Given the description of an element on the screen output the (x, y) to click on. 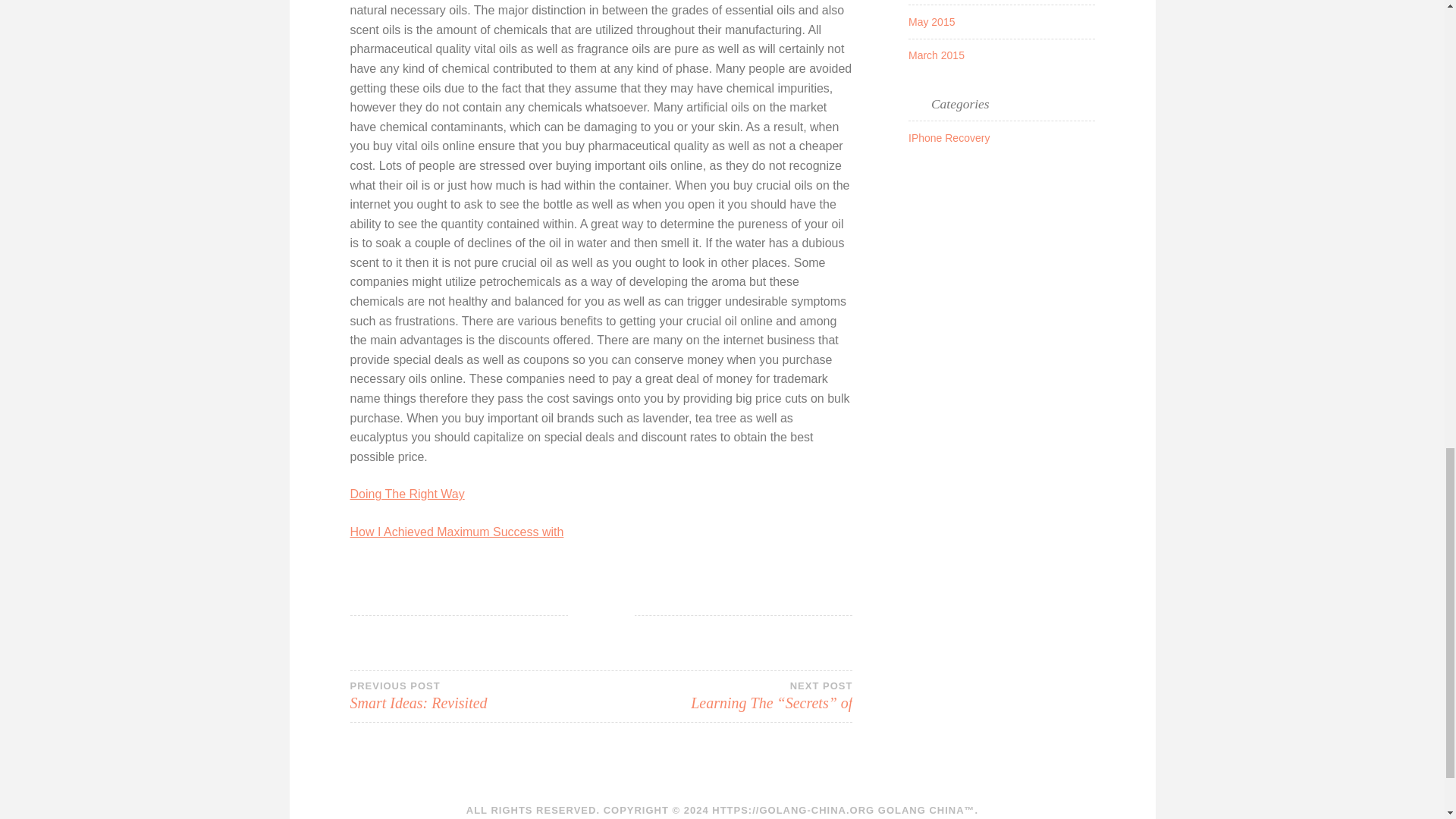
How I Achieved Maximum Success with (475, 695)
IPhone Recovery (457, 531)
May 2015 (949, 137)
March 2015 (931, 21)
Doing The Right Way (935, 55)
